Given the description of an element on the screen output the (x, y) to click on. 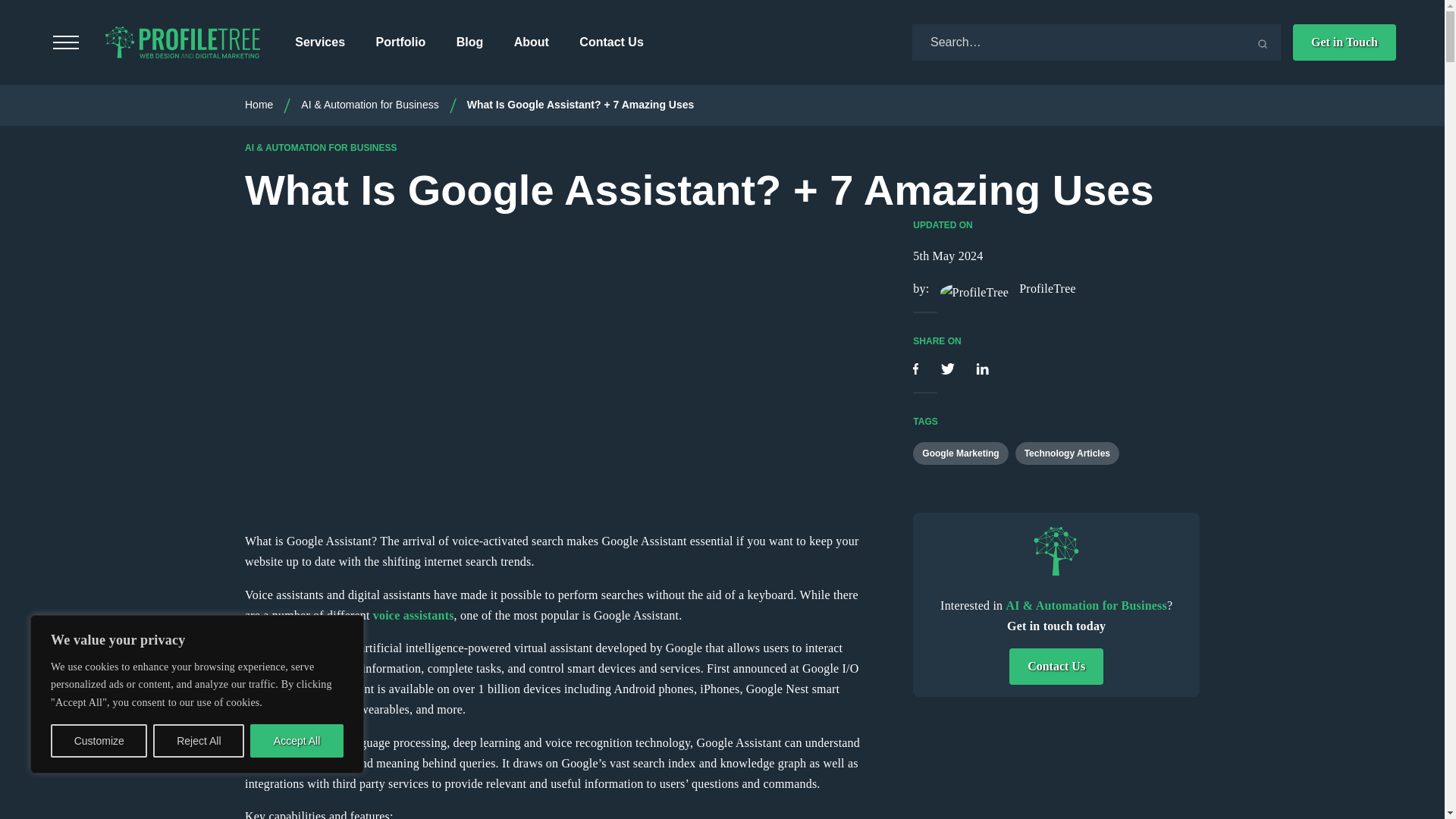
Services (320, 42)
Blog (470, 42)
Get in Touch (1344, 42)
Reject All (198, 740)
voice assistants (413, 615)
Share on Twitter (949, 369)
Accept All (296, 740)
Portfolio (400, 42)
Contact Us (611, 42)
Customize (98, 740)
Home (258, 104)
About (530, 42)
Share on LinkedIn (981, 369)
